Given the description of an element on the screen output the (x, y) to click on. 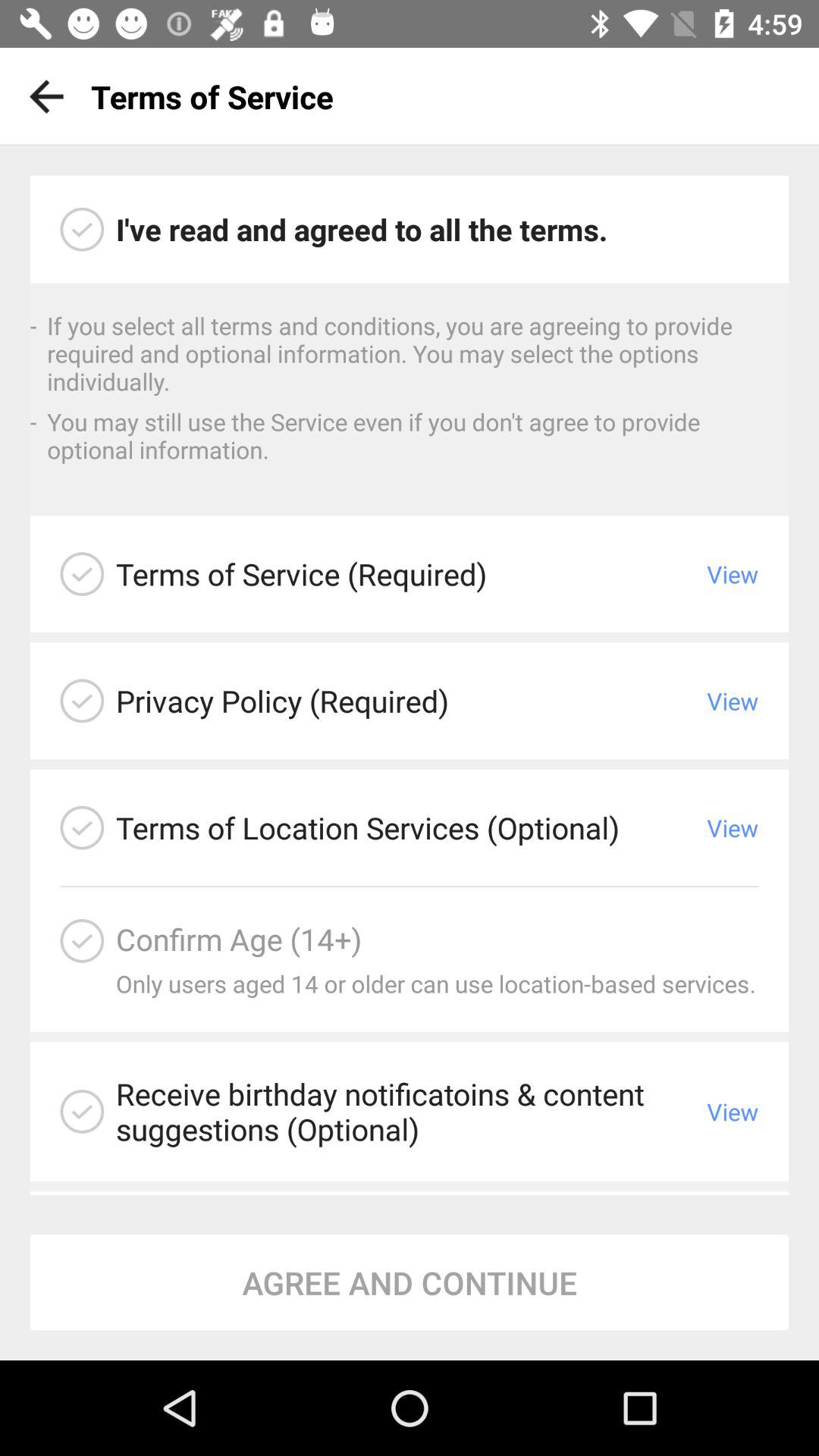
toggle receive birthday notifications (82, 1111)
